Given the description of an element on the screen output the (x, y) to click on. 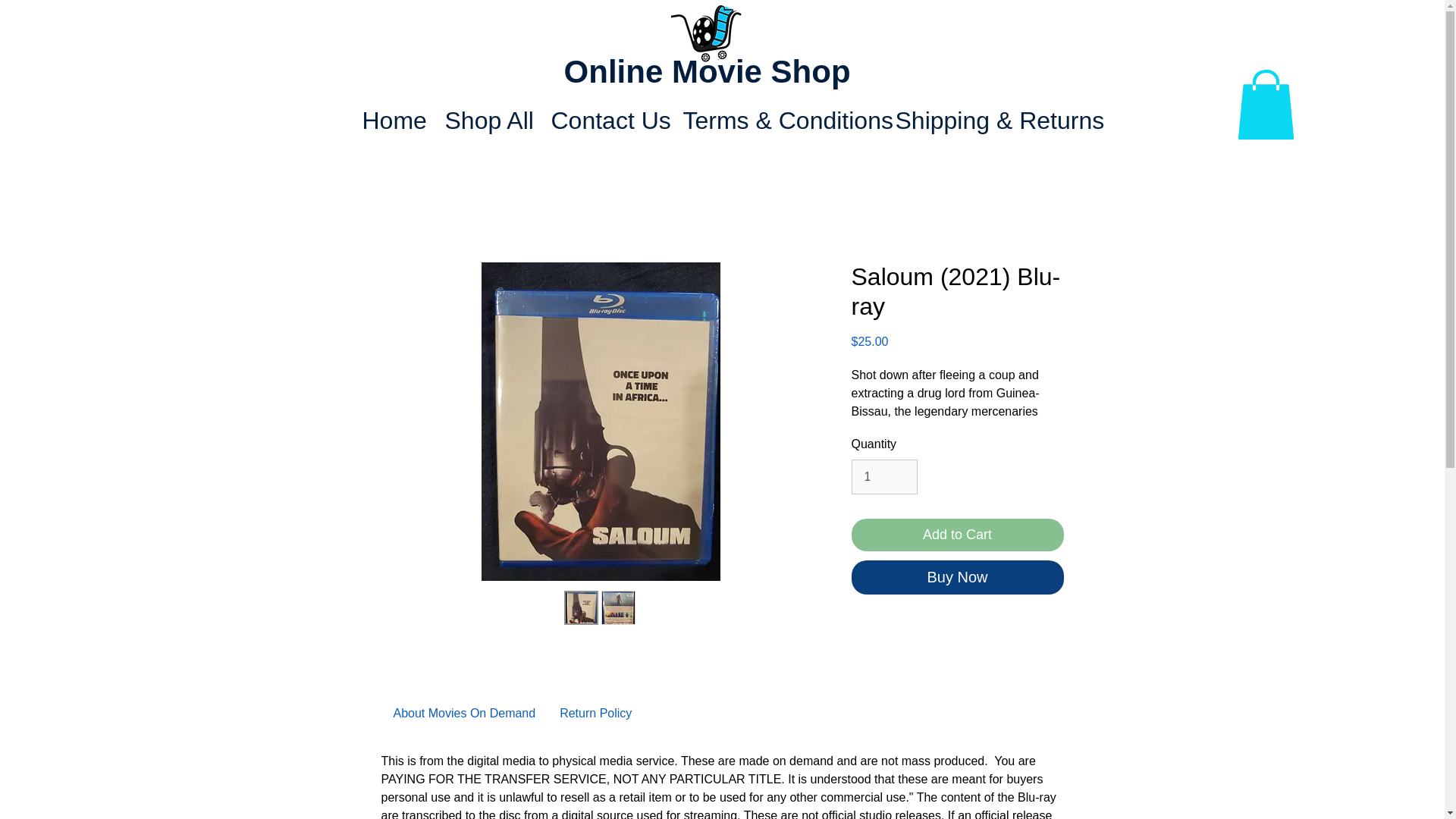
Contact Us (605, 120)
Home (391, 120)
1 (883, 476)
Use right and left arrows to navigate between tabs (463, 713)
Use right and left arrows to navigate between tabs (595, 713)
Buy Now (956, 577)
Add to Cart (956, 534)
Shop All (486, 120)
